Given the description of an element on the screen output the (x, y) to click on. 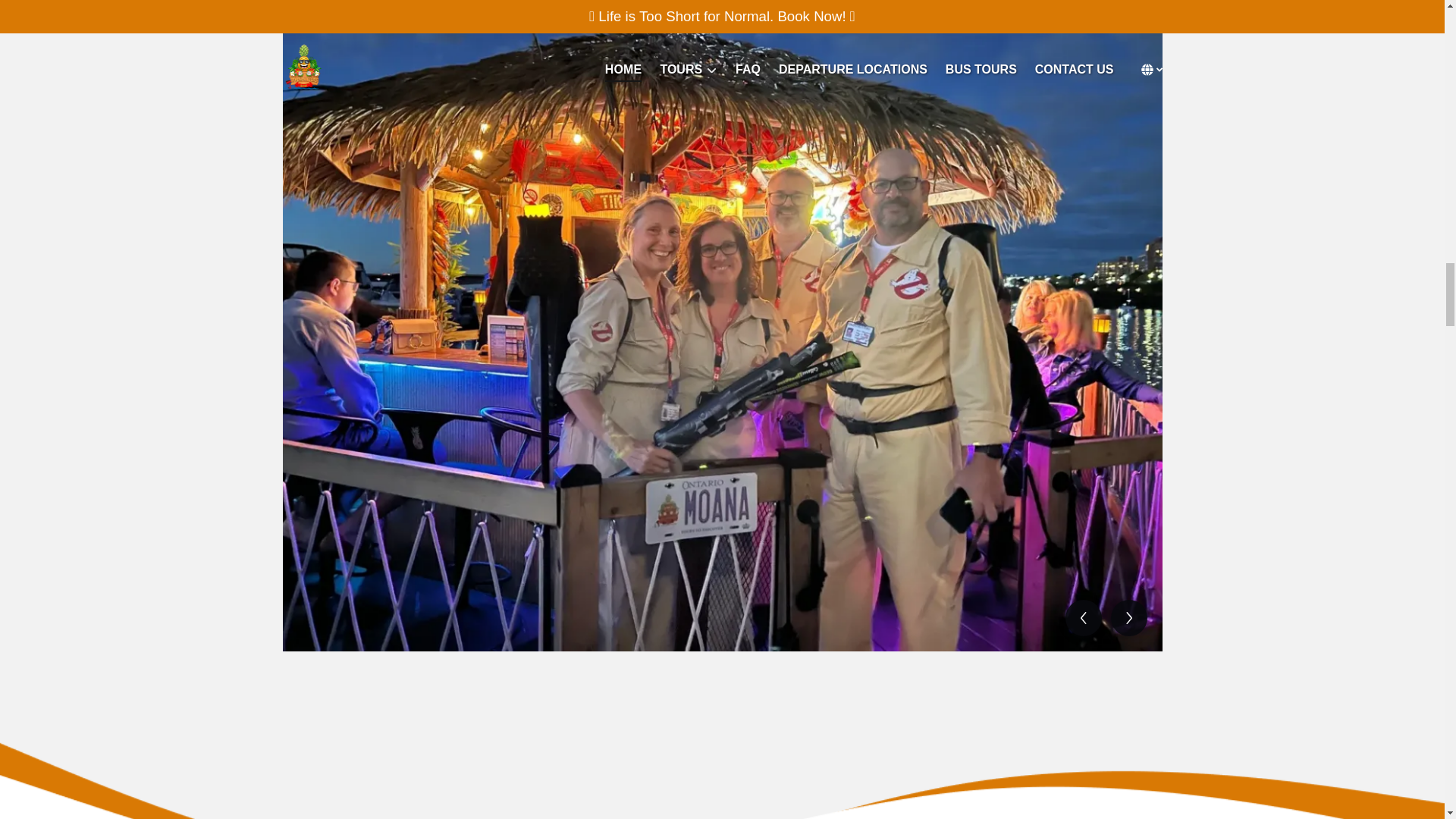
Previous (1082, 617)
Next (1128, 617)
